Given the description of an element on the screen output the (x, y) to click on. 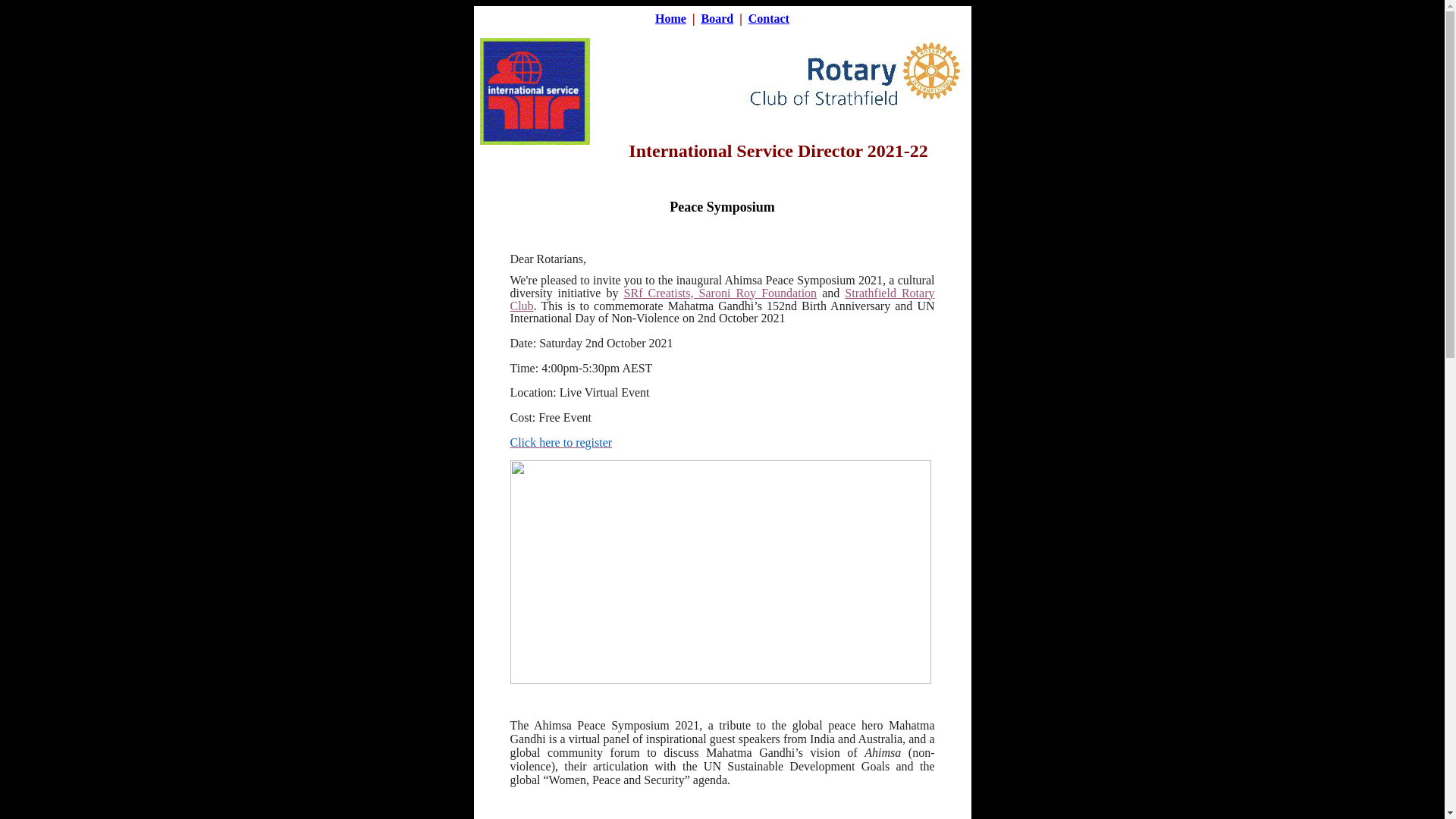
SRf Creatists, Saroni Roy Foundation Element type: text (720, 292)
Strathfield Rotary Club Element type: text (721, 299)
Click here to register Element type: text (560, 442)
Board Element type: text (716, 18)
Contact Element type: text (768, 18)
Home Element type: text (670, 18)
